Given the description of an element on the screen output the (x, y) to click on. 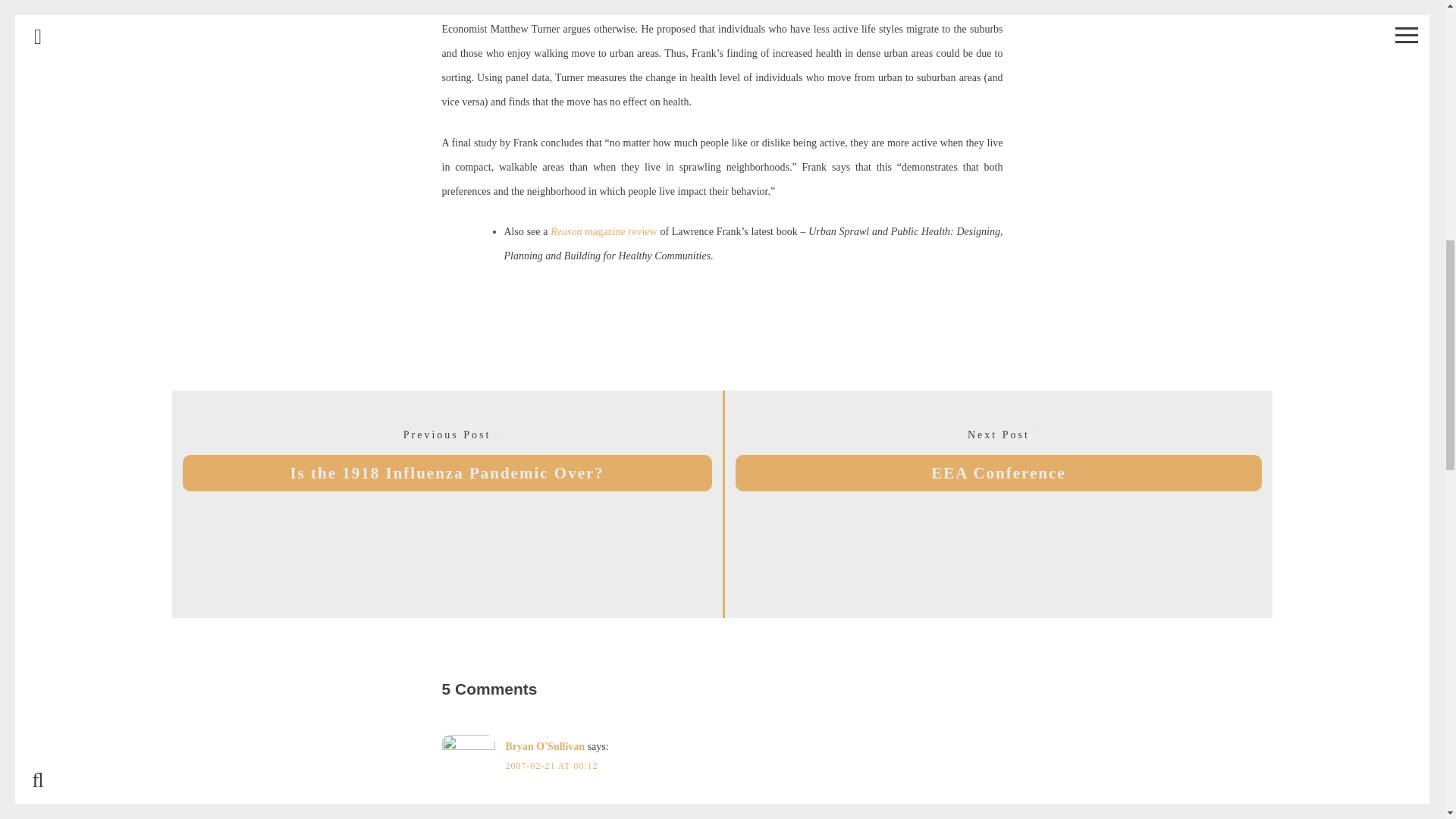
Bryan O'Sullivan (998, 504)
Reason magazine review (545, 746)
2007-02-21 AT 00:12 (603, 231)
